Given the description of an element on the screen output the (x, y) to click on. 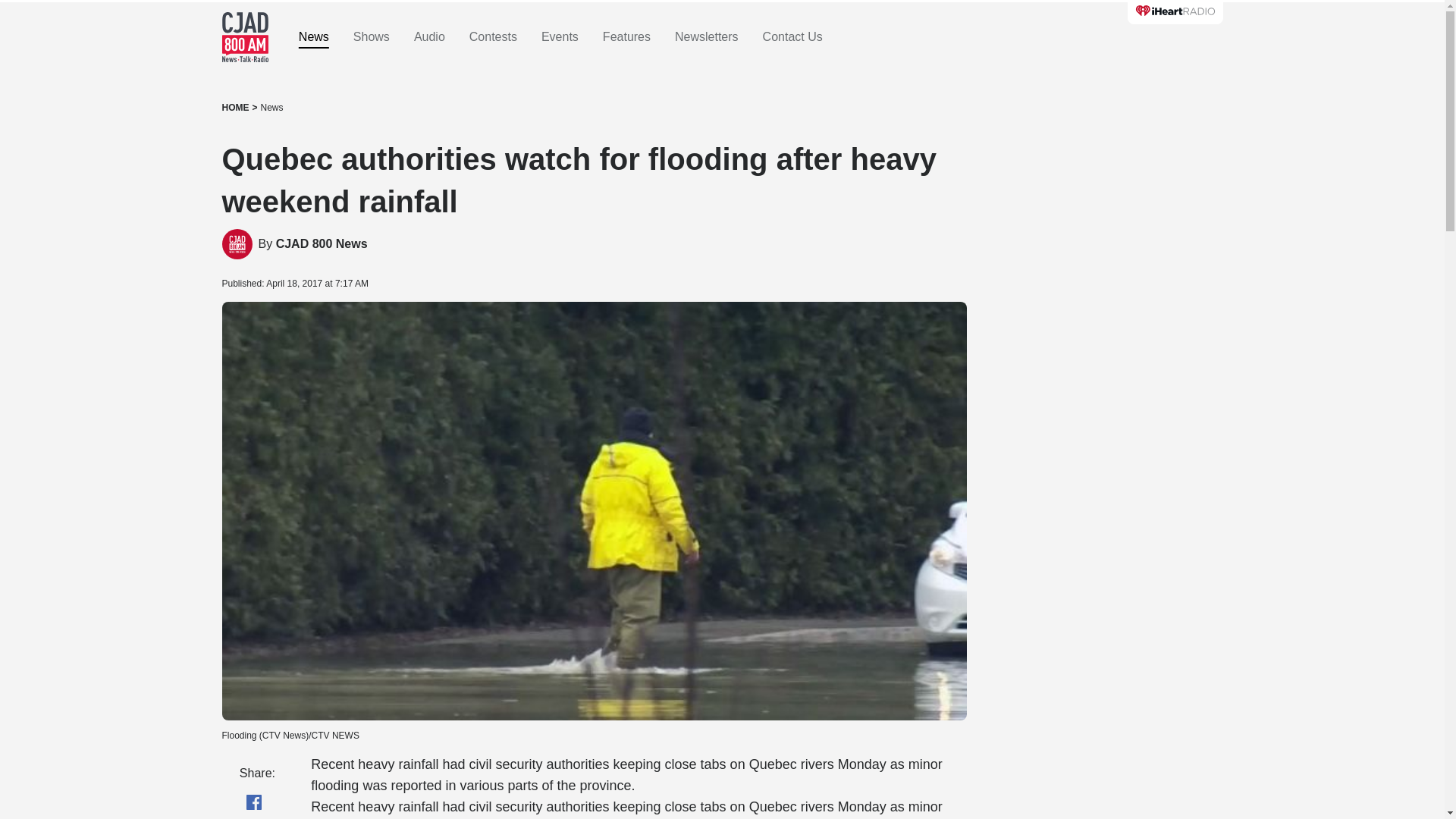
HOME (234, 107)
Features (626, 37)
CJAD 800 News (322, 243)
News (271, 107)
Contests (492, 37)
Contact Us (792, 37)
Newsletters (706, 37)
CJAD 800 News (236, 244)
CJAD 800 News (322, 243)
